Given the description of an element on the screen output the (x, y) to click on. 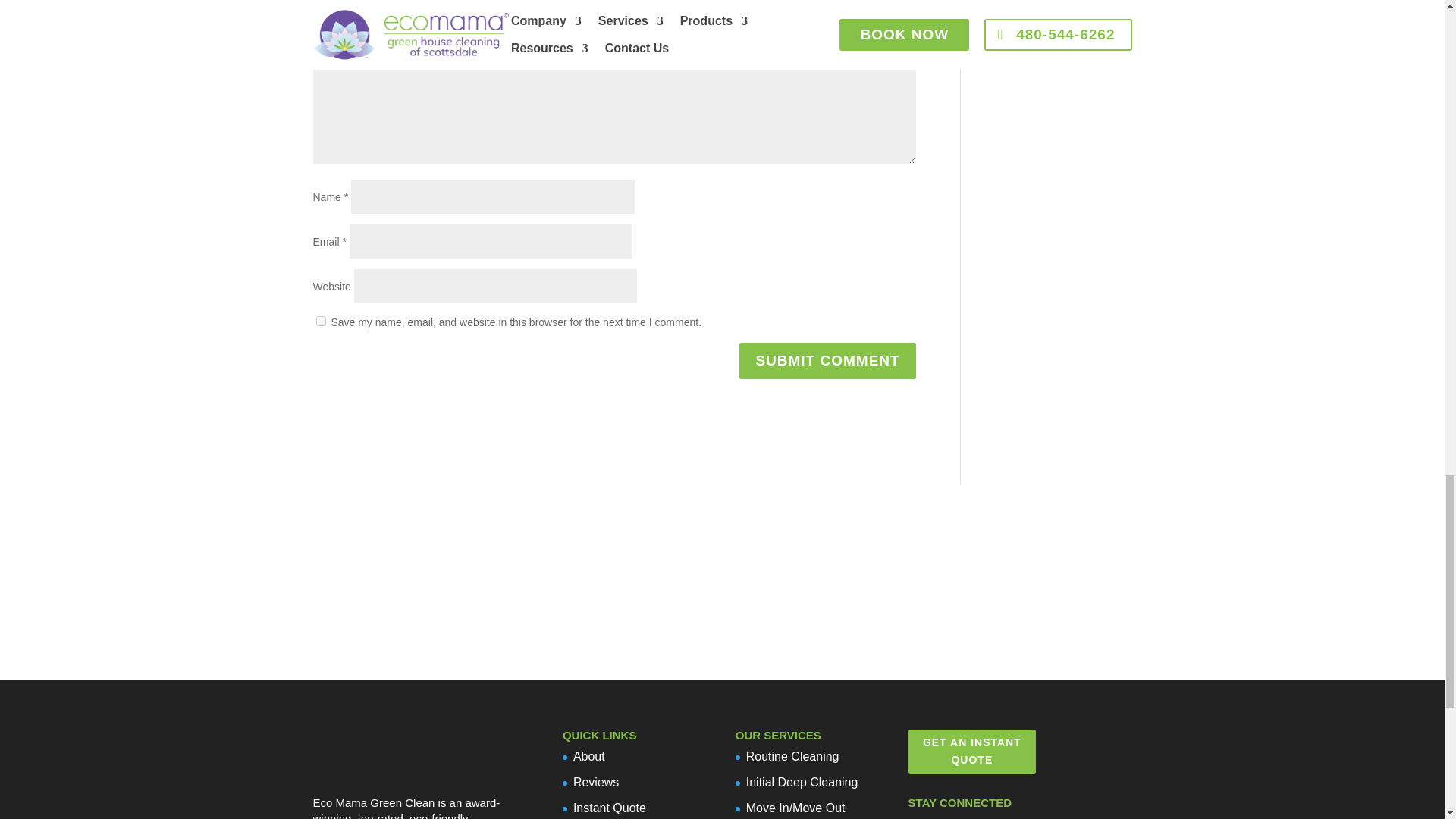
yes (319, 320)
Submit Comment (827, 361)
